Given the description of an element on the screen output the (x, y) to click on. 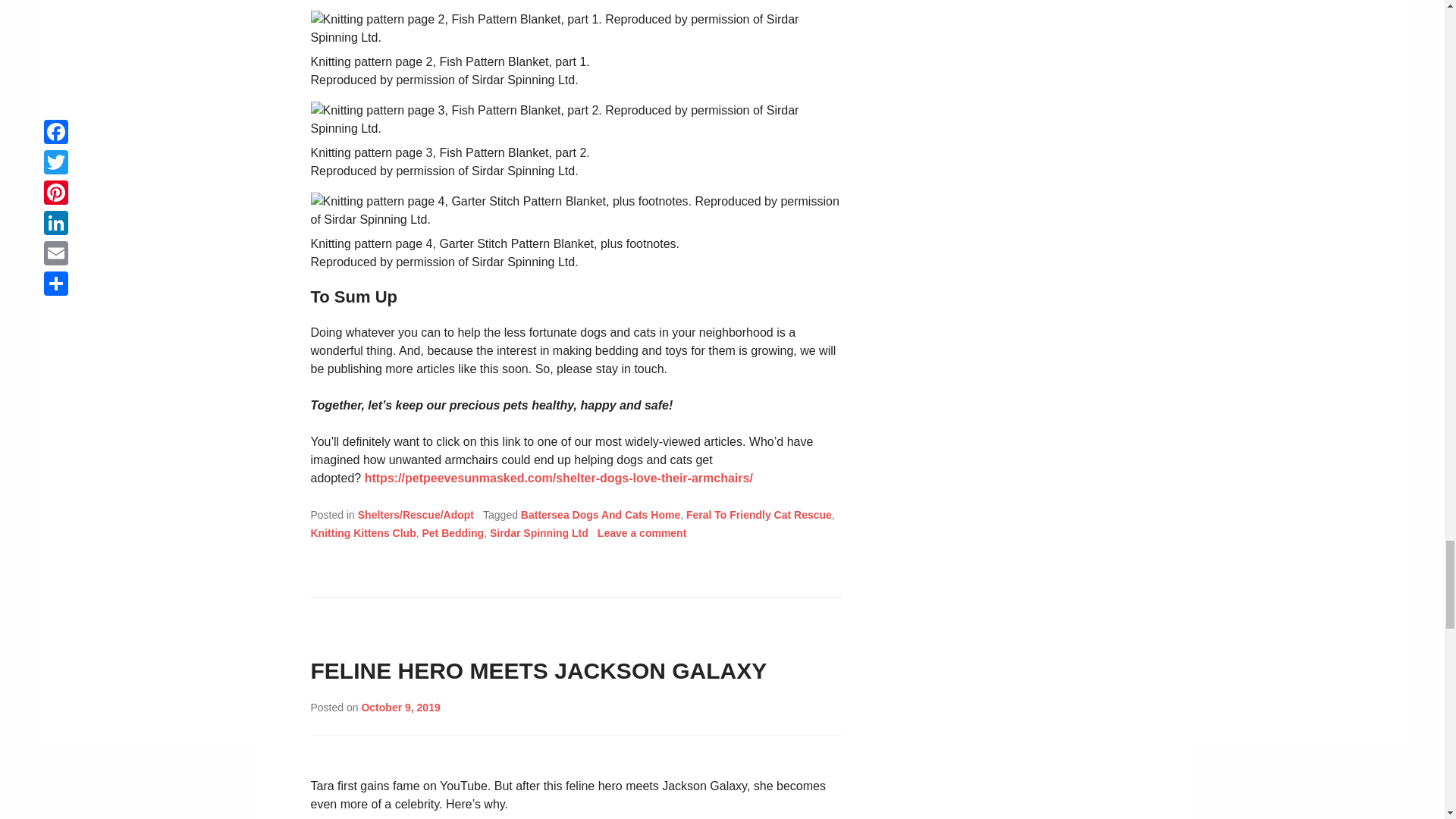
Knitting Kittens Club (363, 532)
Leave a comment (641, 532)
Sirdar Spinning Ltd (538, 532)
Battersea Dogs And Cats Home (600, 514)
October 9, 2019 (400, 707)
Feral To Friendly Cat Rescue (758, 514)
FELINE HERO MEETS JACKSON GALAXY (539, 670)
Pet Bedding (452, 532)
